Given the description of an element on the screen output the (x, y) to click on. 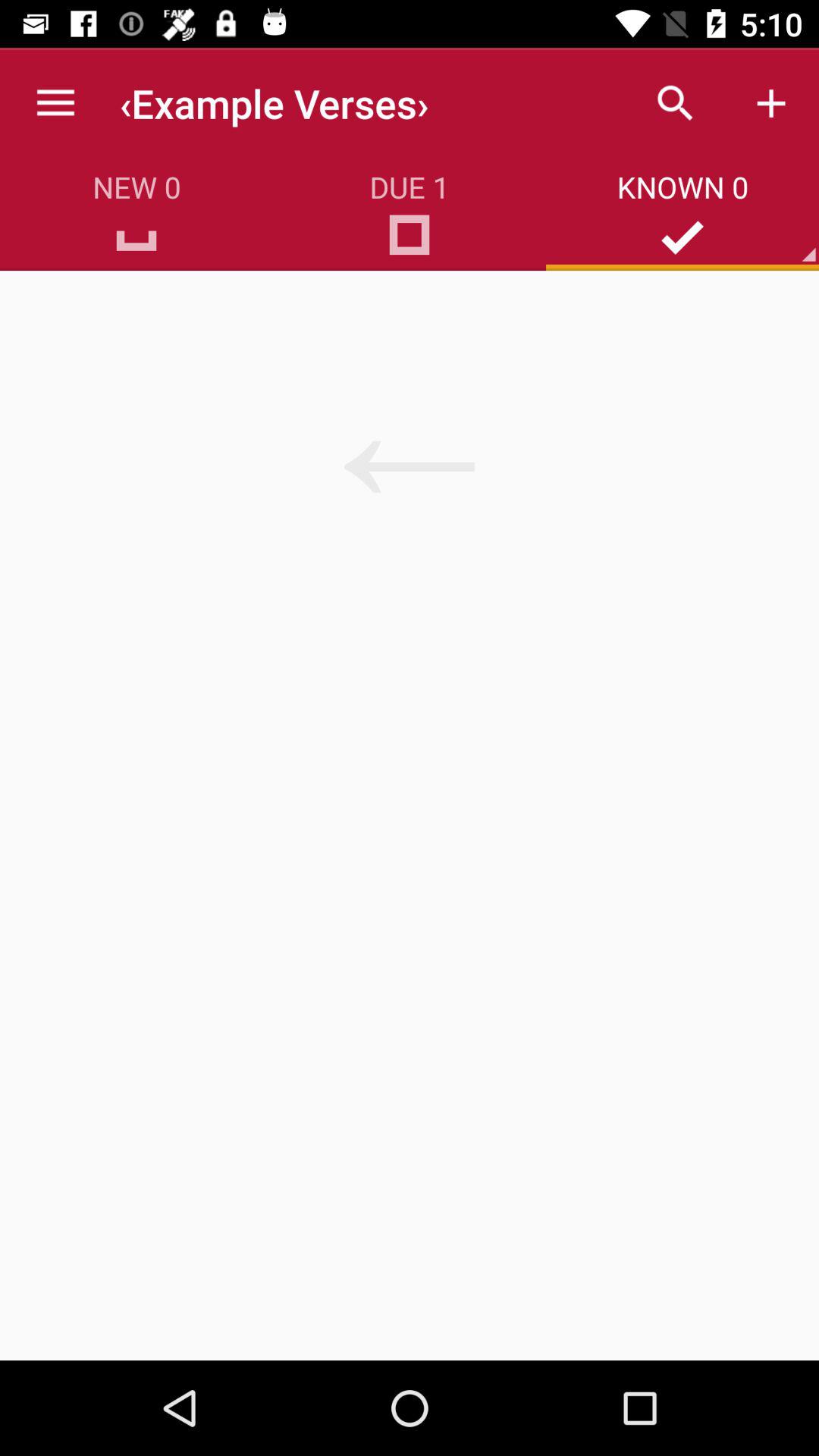
turn off the icon above new 0 (55, 103)
